Given the description of an element on the screen output the (x, y) to click on. 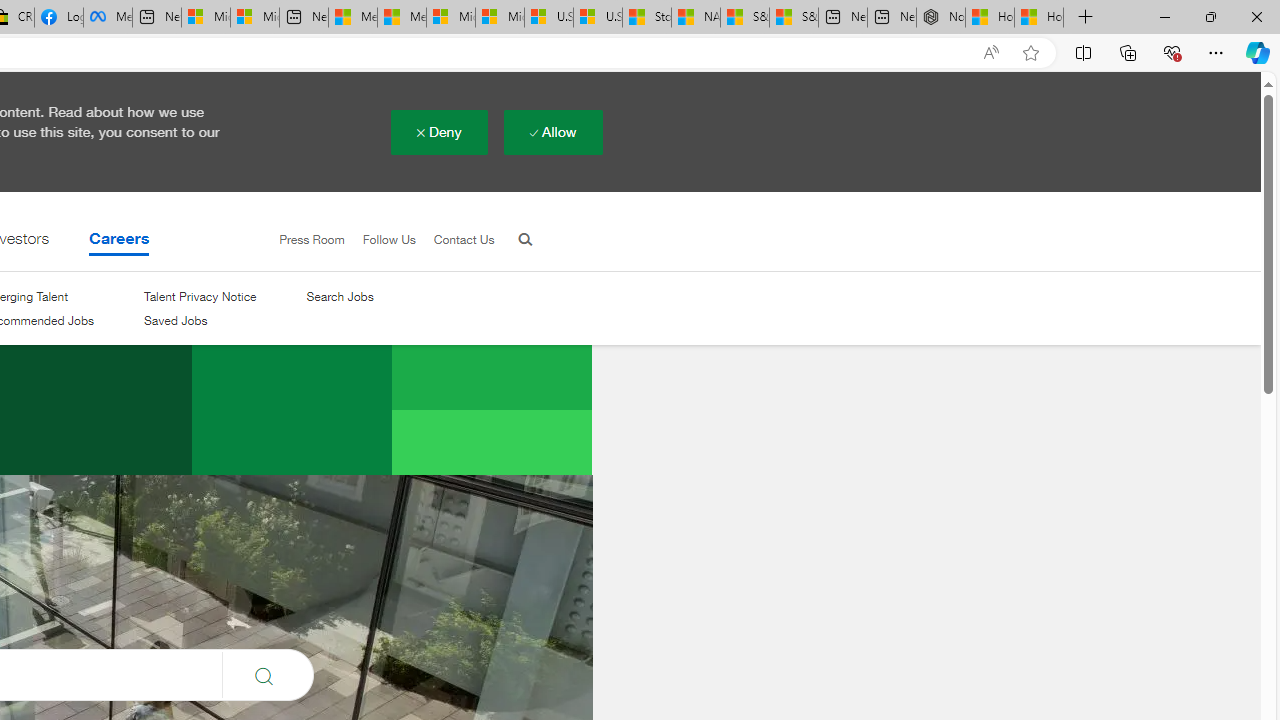
How to Use a Monitor With Your Closed Laptop (1039, 17)
S&P 500, Nasdaq end lower, weighed by Nvidia dip | Watch (793, 17)
Press Room (303, 240)
Deny (438, 131)
Search Jobs (339, 296)
Talent Privacy Notice (200, 296)
